Given the description of an element on the screen output the (x, y) to click on. 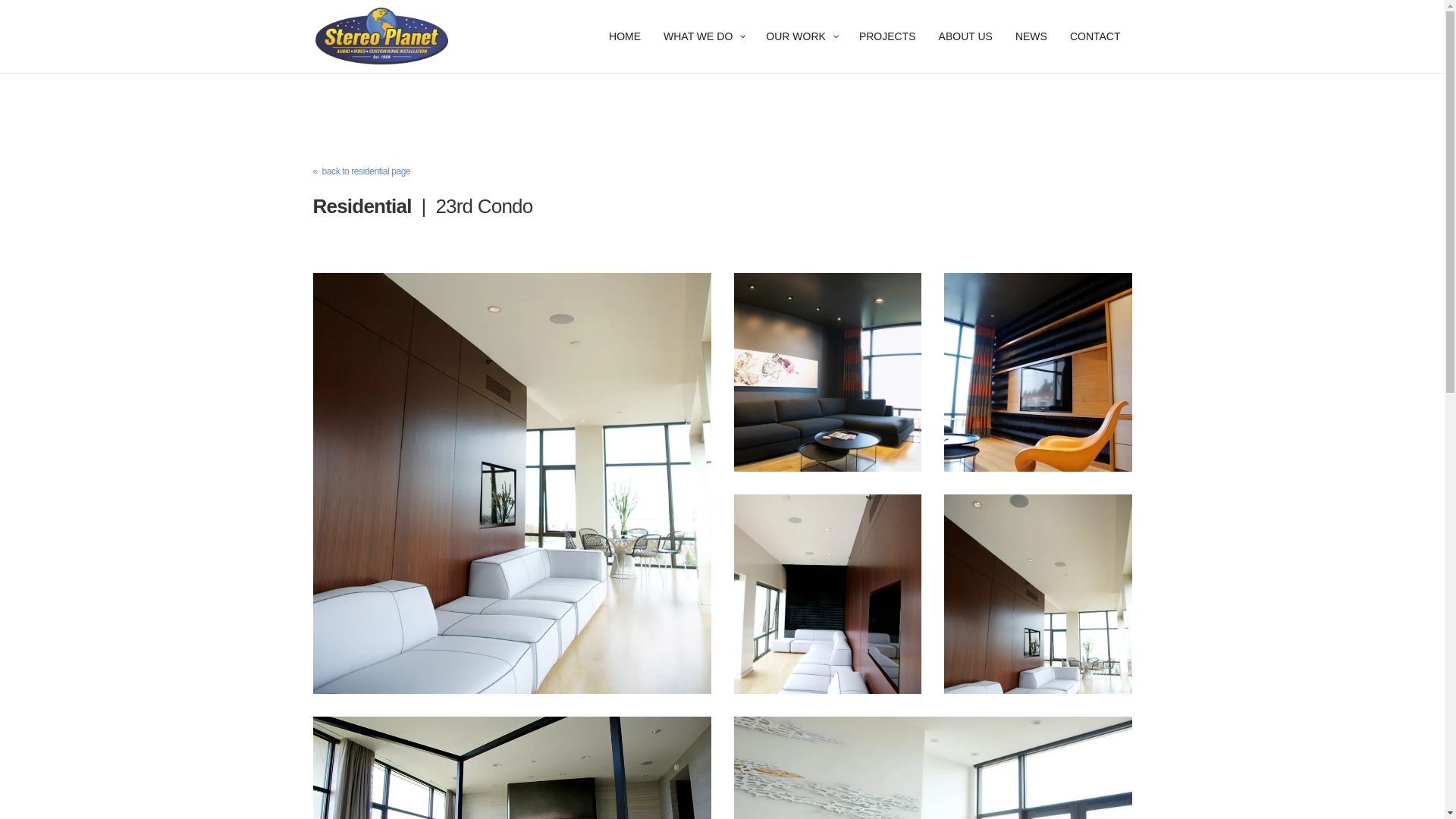
PROJECTS (887, 51)
ABOUT US (965, 51)
OUR WORK (800, 51)
NEWS (1031, 51)
HOME (624, 51)
WHAT WE DO (703, 51)
CONTACT (1095, 51)
